Given the description of an element on the screen output the (x, y) to click on. 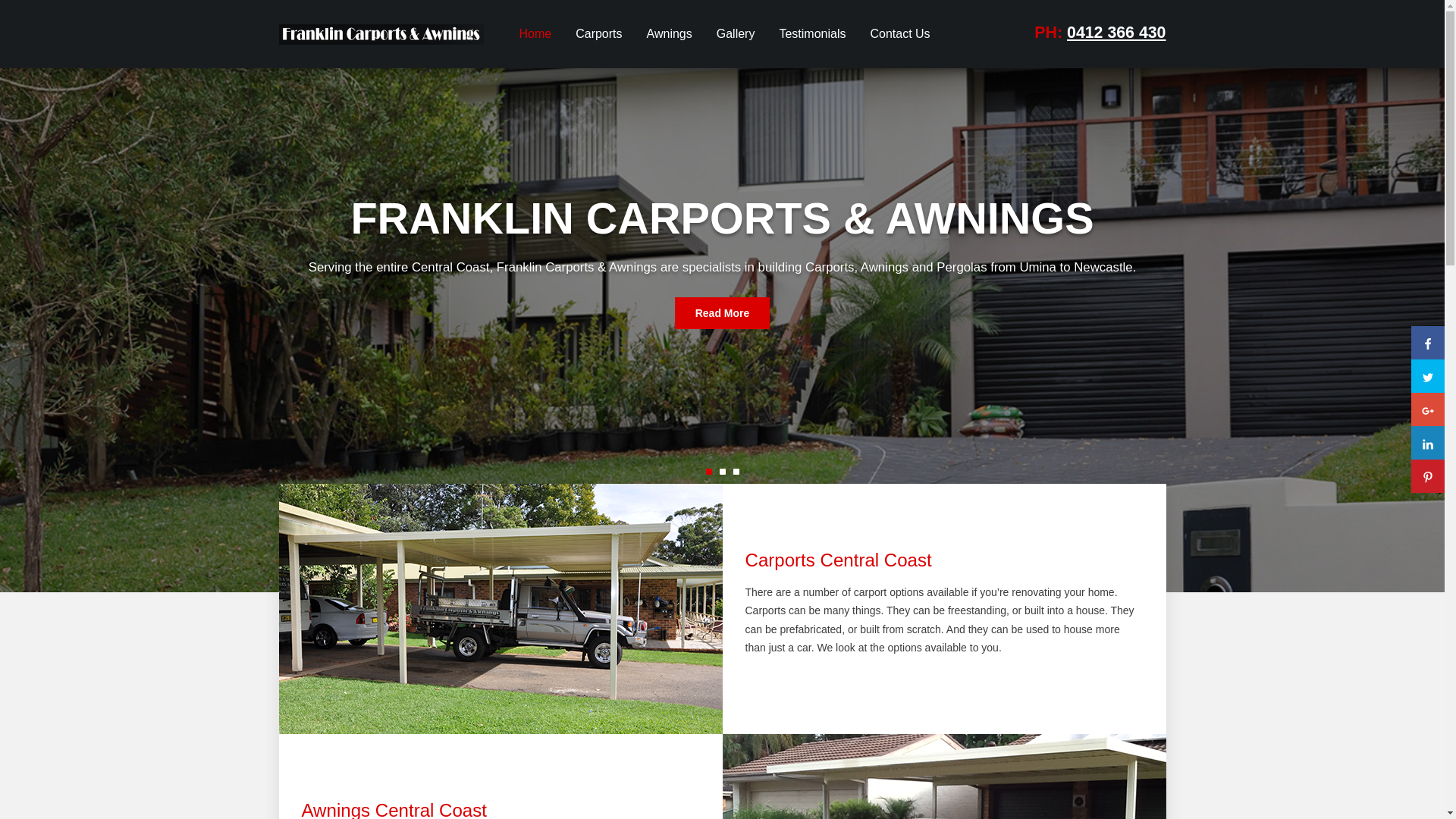
Contact Us Element type: text (899, 33)
Home Element type: text (535, 33)
Awnings Element type: text (669, 33)
0412 366 430 Element type: text (1115, 32)
Read More Element type: text (722, 313)
Carports Element type: text (598, 33)
Gallery Element type: text (735, 33)
Testimonials Element type: text (811, 33)
